Given the description of an element on the screen output the (x, y) to click on. 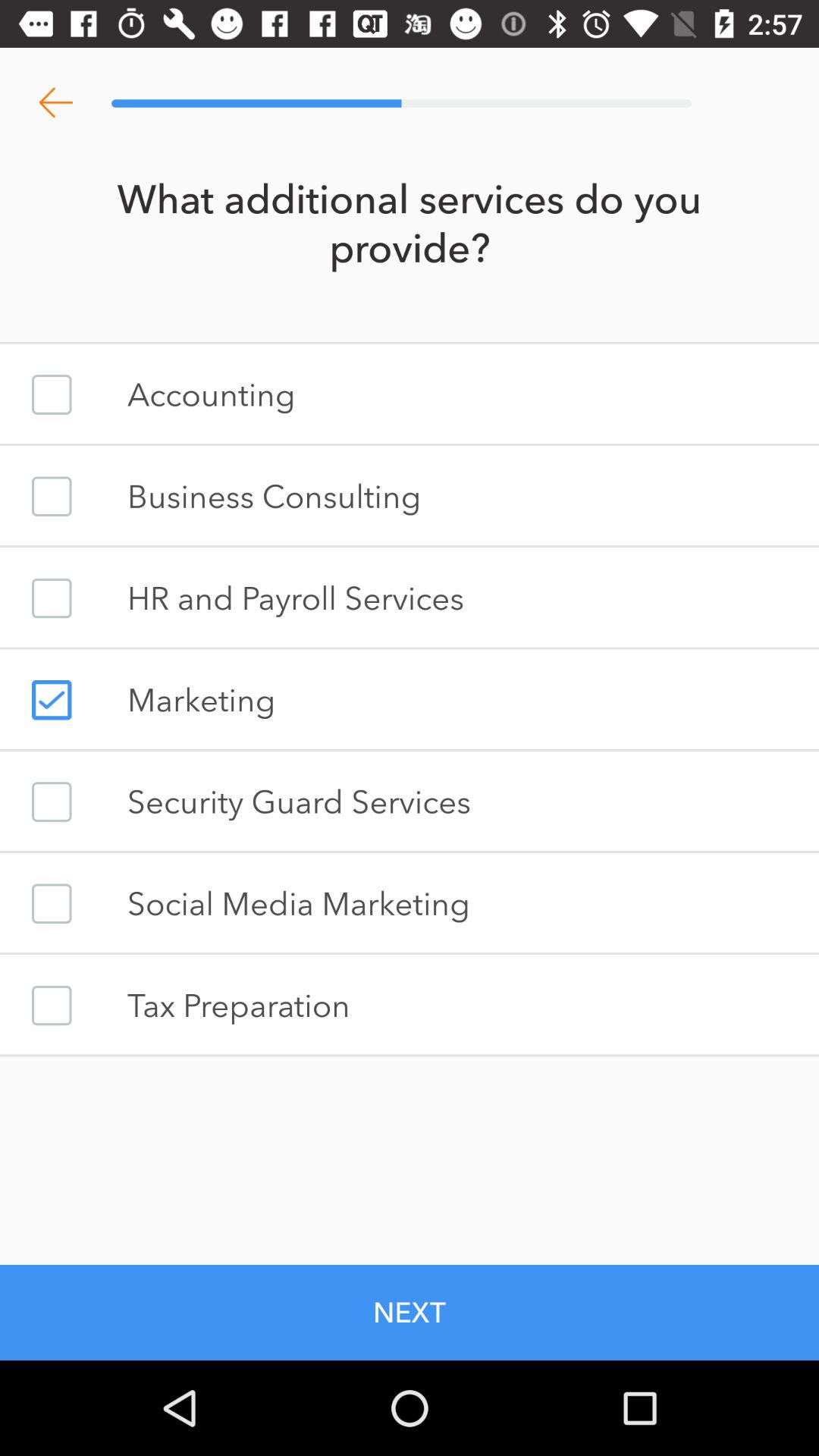
check mark box (51, 496)
